Given the description of an element on the screen output the (x, y) to click on. 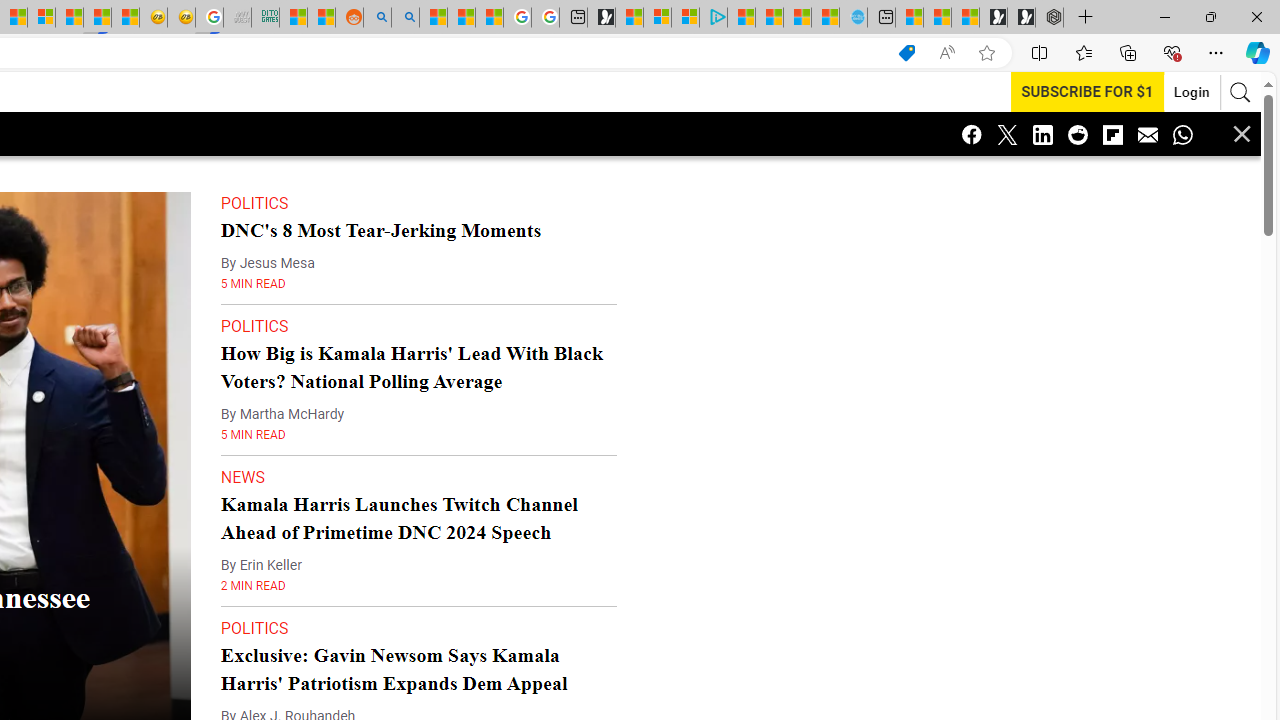
Class: icon-reddit (1077, 133)
DITOGAMES AG Imprint (265, 17)
Class: icon-facebook (971, 133)
Class: icon icon-email (1147, 133)
By Alex J. Rouhandeh (287, 676)
Class: icon-linkedin (1042, 133)
Nordace - Nordace Siena Is Not An Ordinary Backpack (1049, 17)
